Given the description of an element on the screen output the (x, y) to click on. 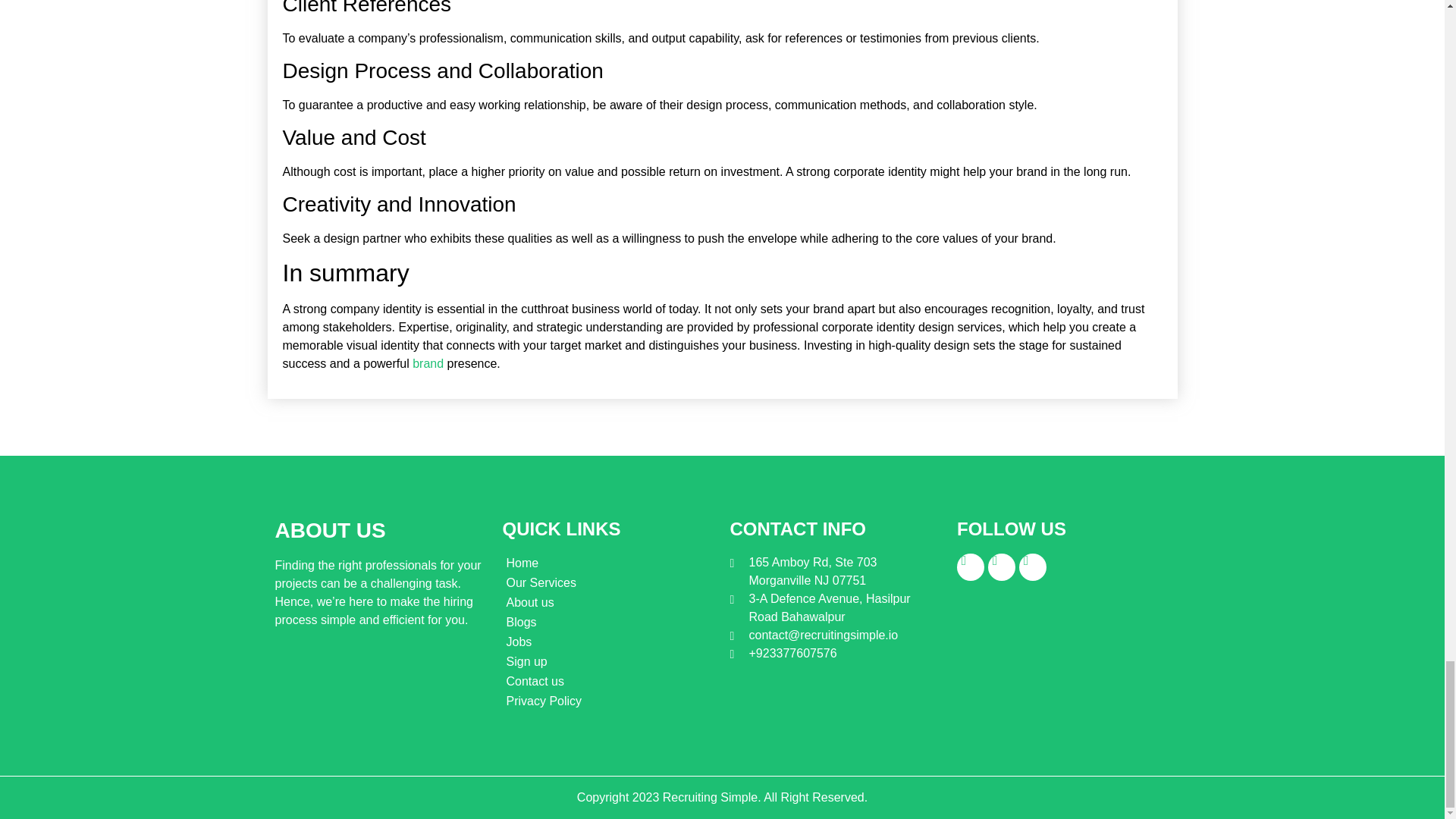
Sign up (608, 661)
Home (608, 563)
Our Services (608, 582)
brand (428, 363)
Privacy Policy (608, 701)
Blogs (608, 622)
Jobs (608, 641)
165 Amboy Rd, Ste 703 Morganville NJ 07751 (834, 571)
About us (608, 602)
Contact us (608, 681)
